Given the description of an element on the screen output the (x, y) to click on. 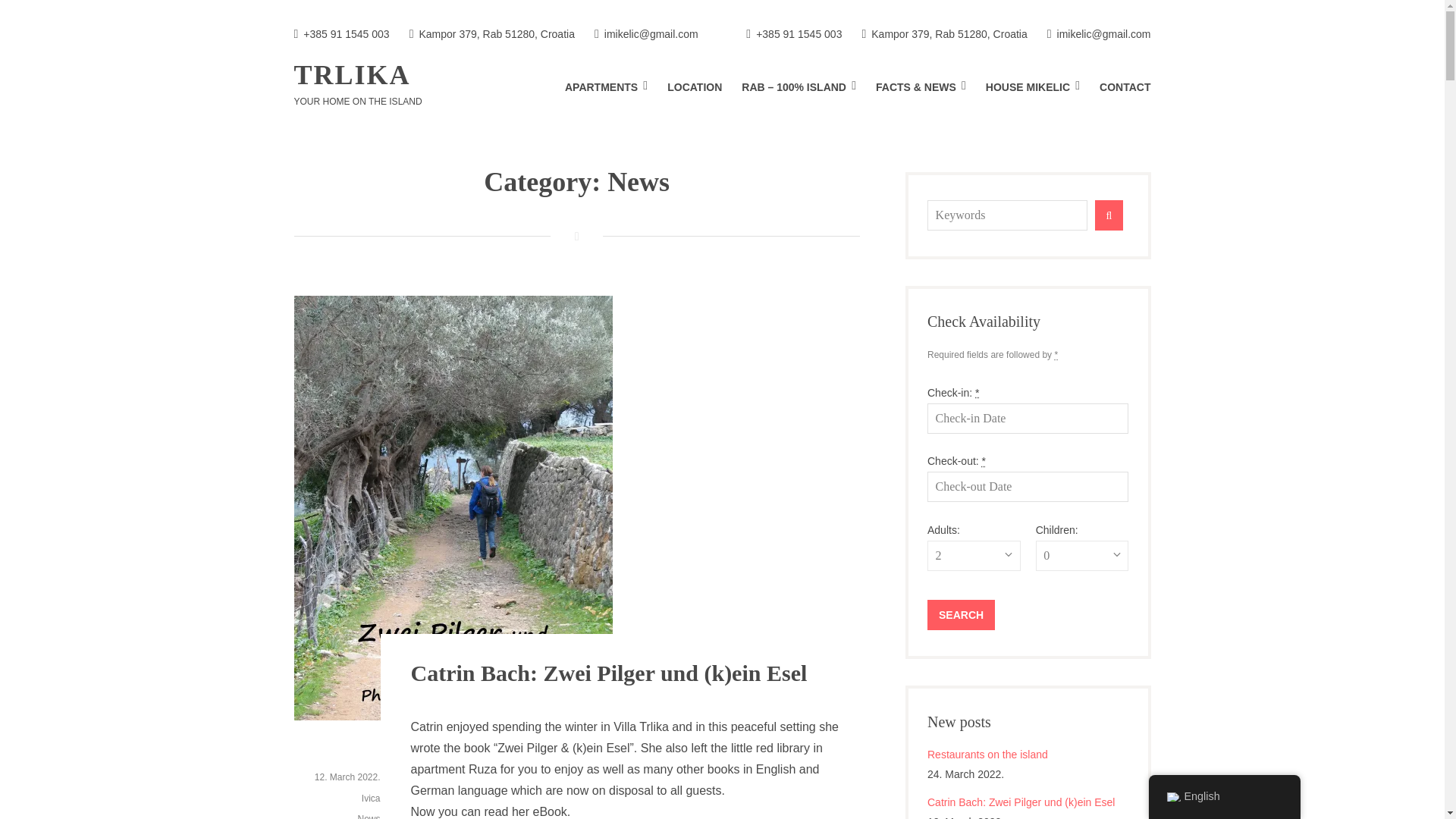
APARTMENTS (605, 87)
Search (960, 614)
Kampor 379, Rab 51280, Croatia (492, 34)
LOCATION (694, 87)
Kampor 379, Rab 51280, Croatia (943, 34)
HOUSE MIKELIC (1032, 87)
TRLIKA (352, 74)
